Given the description of an element on the screen output the (x, y) to click on. 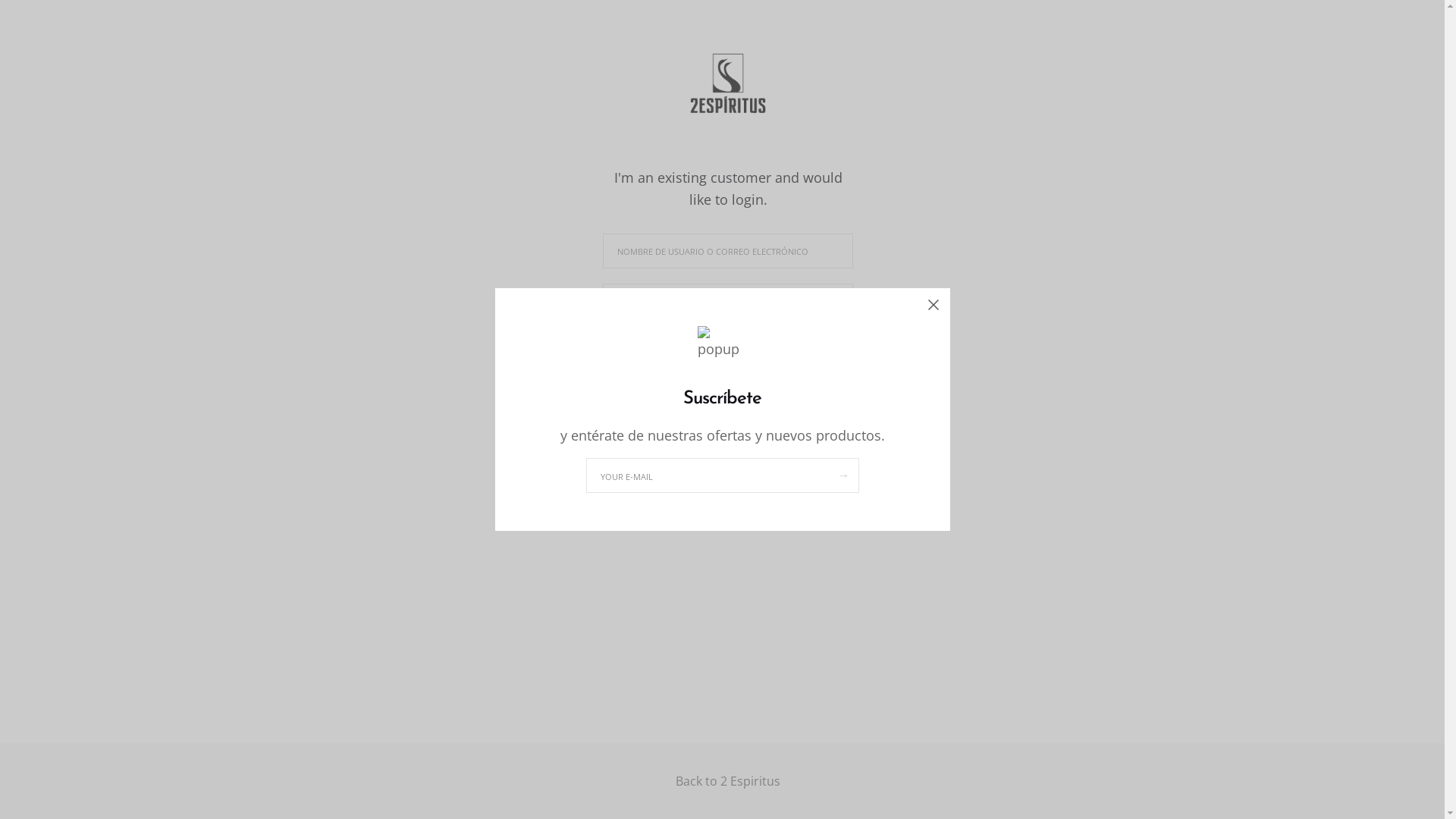
ACCEDER Element type: text (727, 386)
Back to 2 Espiritus Element type: text (727, 780)
DESCARTAR Element type: text (888, 806)
Close (Esc) Element type: hover (932, 304)
Lost Password? Element type: text (808, 340)
